Given the description of an element on the screen output the (x, y) to click on. 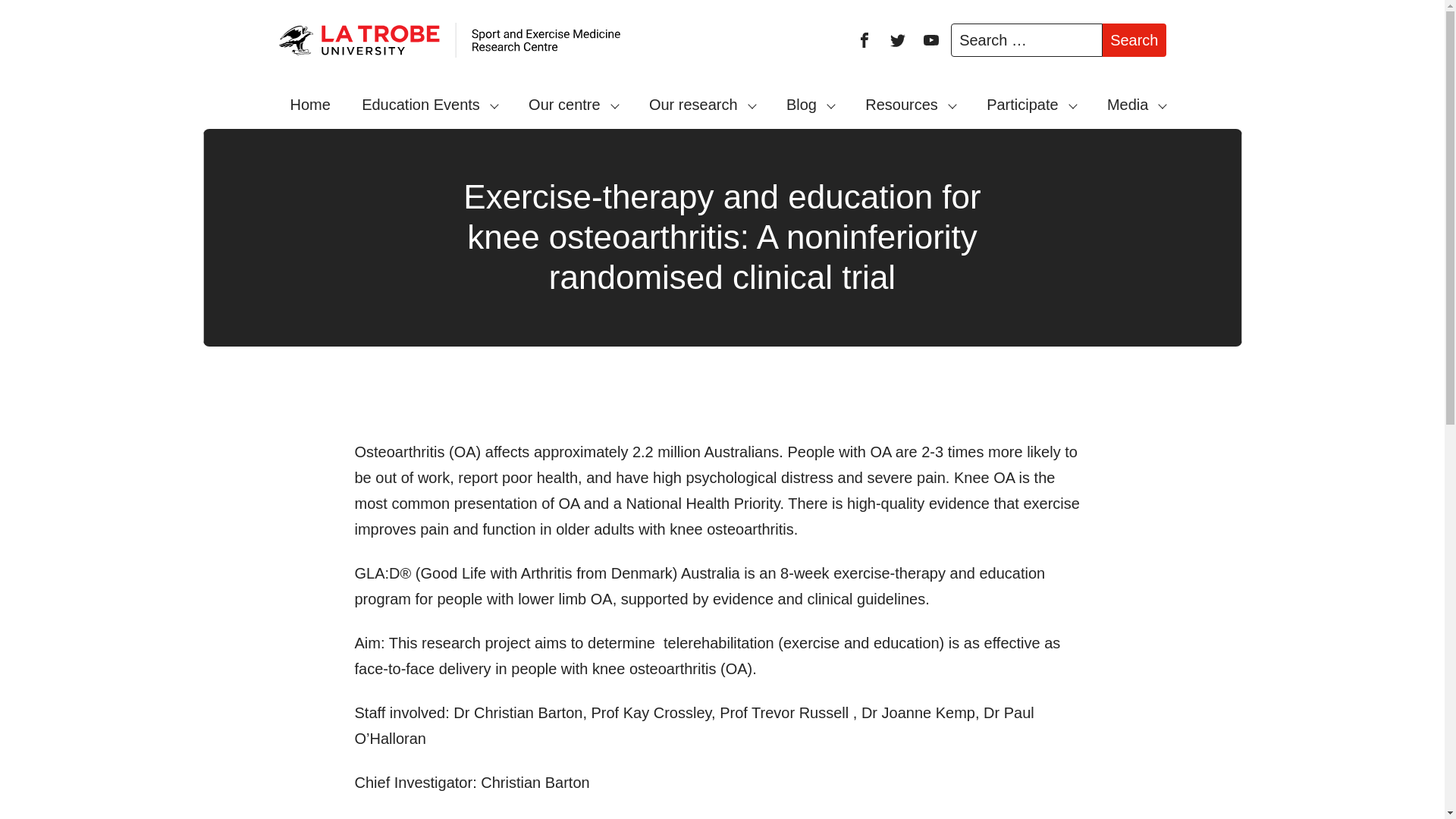
Search (1134, 39)
Home (310, 104)
Education Events (429, 104)
Search (1134, 39)
Blog (809, 104)
Our centre (572, 104)
Search (1134, 39)
Our research (702, 104)
